Given the description of an element on the screen output the (x, y) to click on. 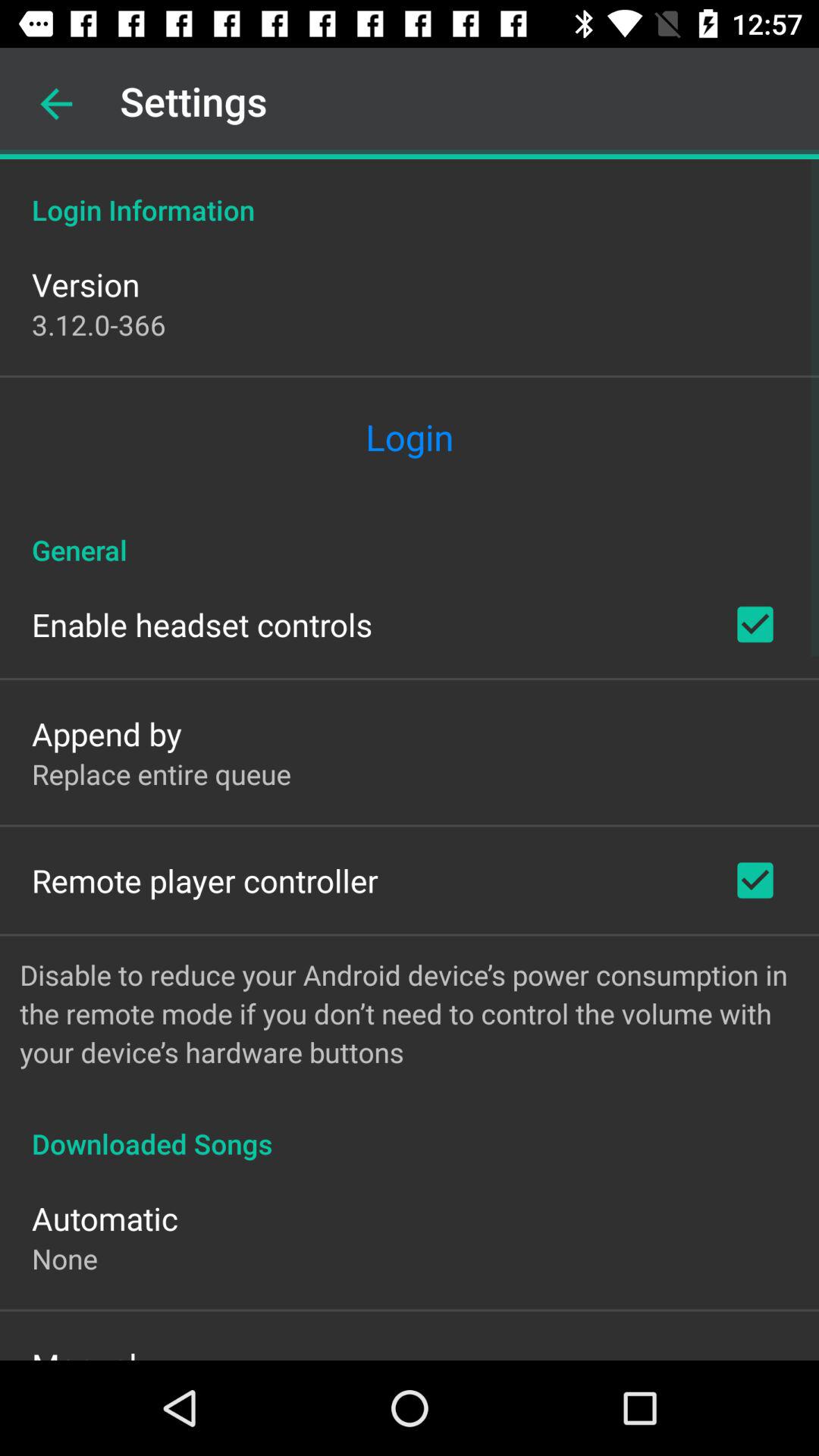
select the none item (64, 1258)
